Given the description of an element on the screen output the (x, y) to click on. 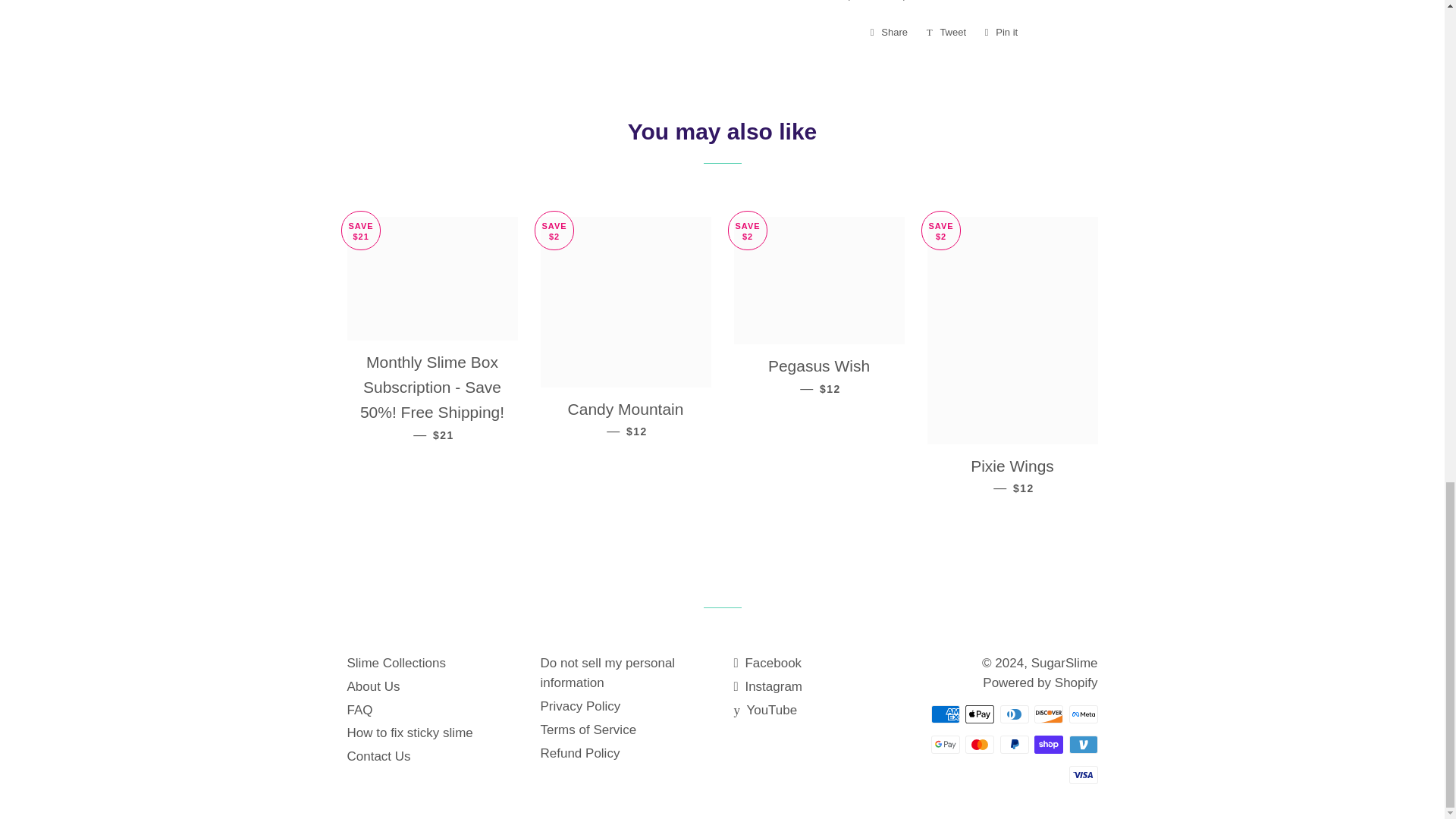
Share on Facebook (889, 32)
Shop Pay (1047, 744)
Tweet on Twitter (1000, 32)
PayPal (946, 32)
Discover (1012, 744)
American Express (1047, 714)
SugarSlime on Instagram (945, 714)
SugarSlime on YouTube (768, 686)
